Given the description of an element on the screen output the (x, y) to click on. 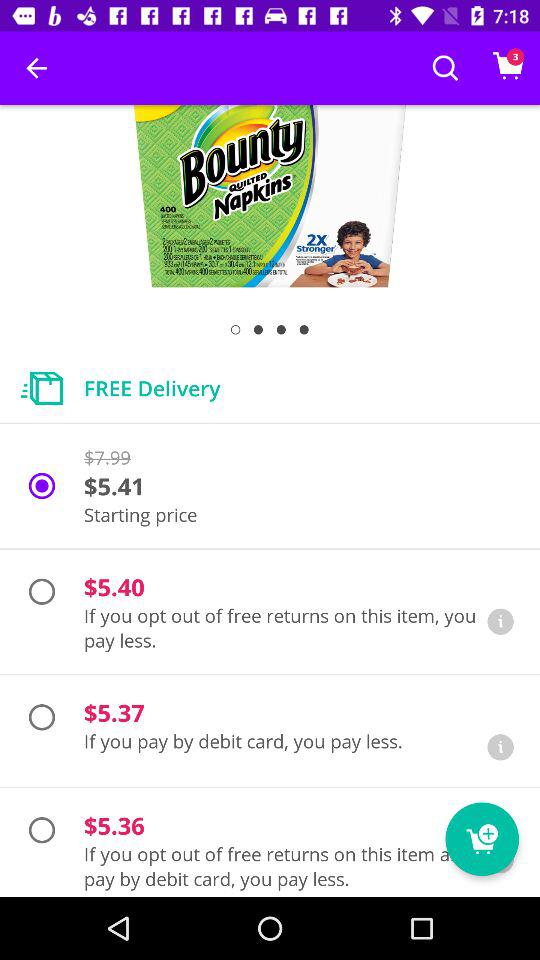
more info (500, 747)
